Given the description of an element on the screen output the (x, y) to click on. 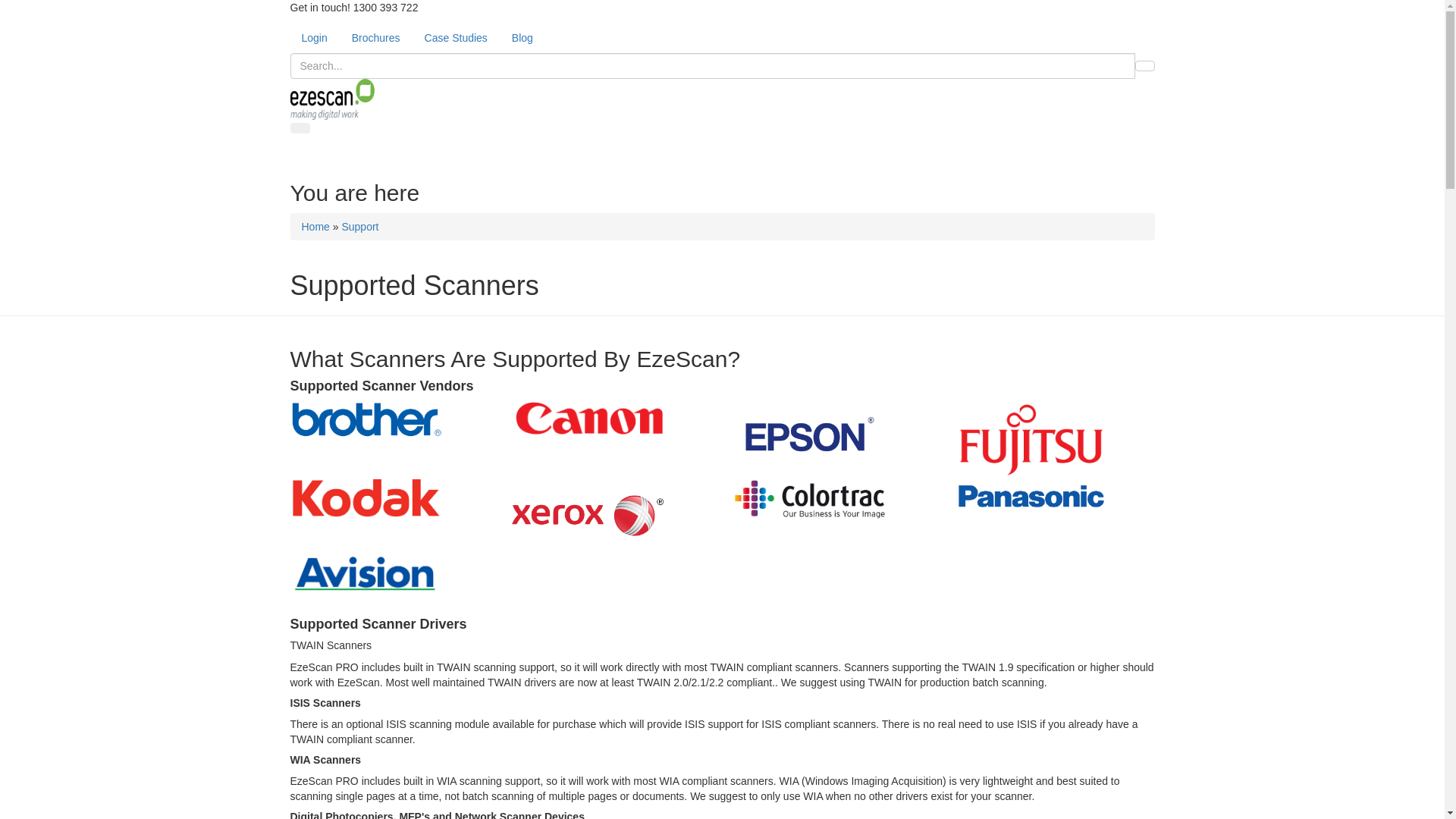
Case Studies Element type: text (455, 37)
Home Element type: text (315, 226)
Login Element type: text (313, 37)
Brochures Element type: text (375, 37)
Blog Element type: text (522, 37)
Home Element type: hover (331, 98)
Support Element type: text (359, 226)
Enter the terms you wish to search for. Element type: hover (711, 65)
